Given the description of an element on the screen output the (x, y) to click on. 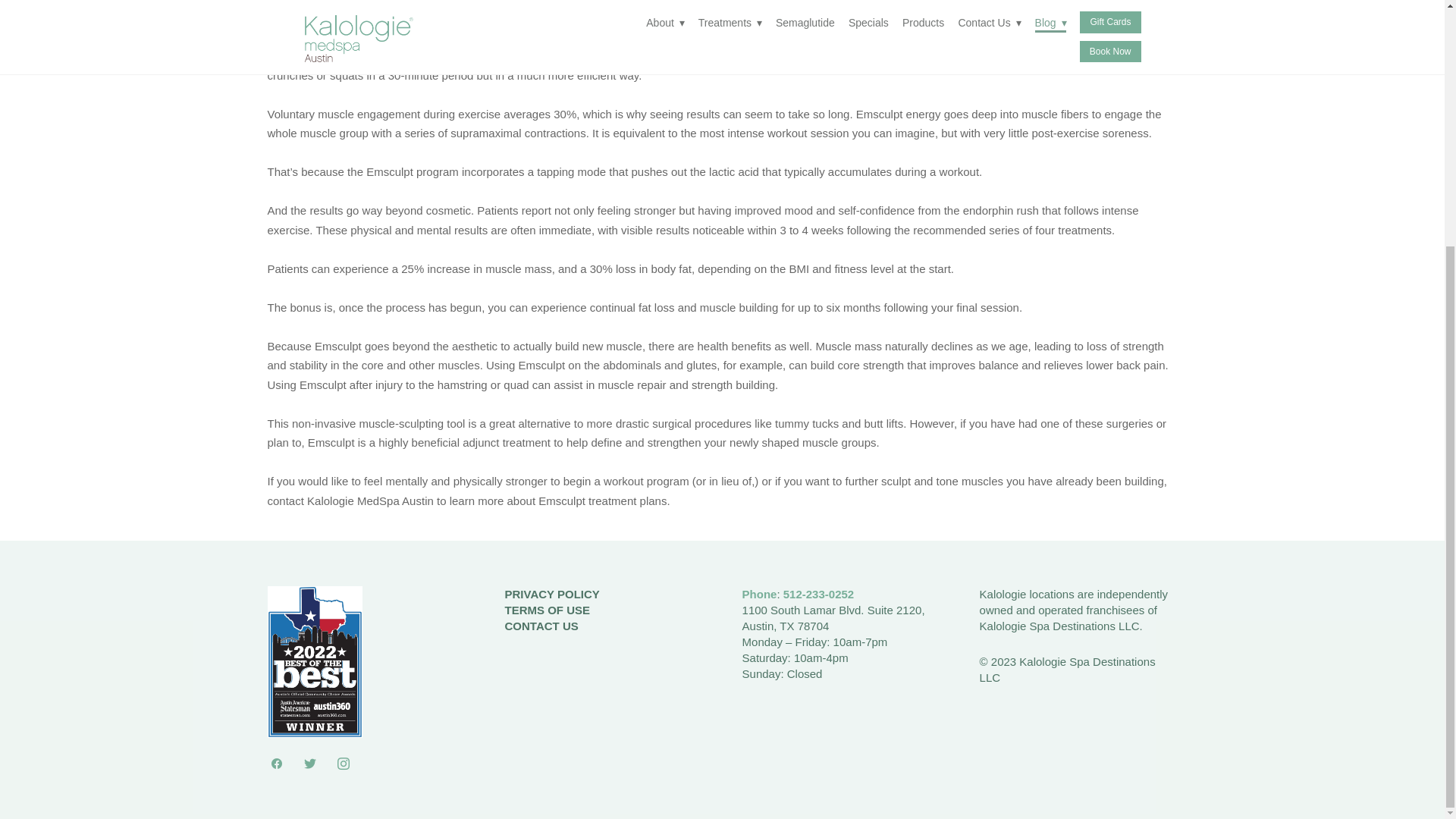
TERMS OF USE (548, 609)
Kalologie (1002, 594)
PRIVACY POLICY (552, 594)
512-233-0252 (818, 594)
CONTACT US (541, 625)
1100 South Lamar Blvd. Suite 2120, Austin, TX 78704 (833, 617)
